Given the description of an element on the screen output the (x, y) to click on. 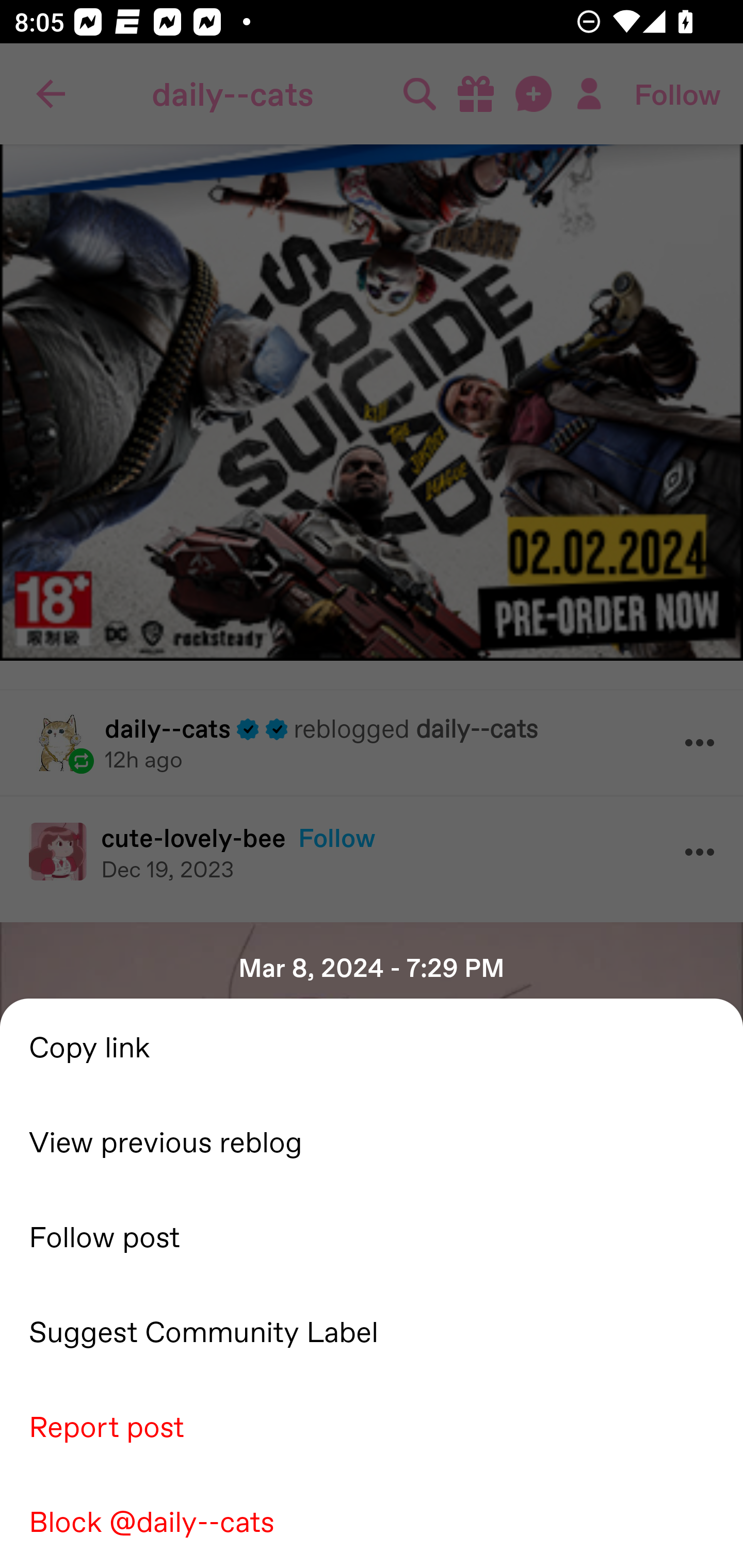
Copy link (371, 1045)
View previous reblog (371, 1140)
Follow post (371, 1235)
Suggest Community Label (371, 1330)
Report post (371, 1425)
Block @daily--cats (371, 1520)
